Given the description of an element on the screen output the (x, y) to click on. 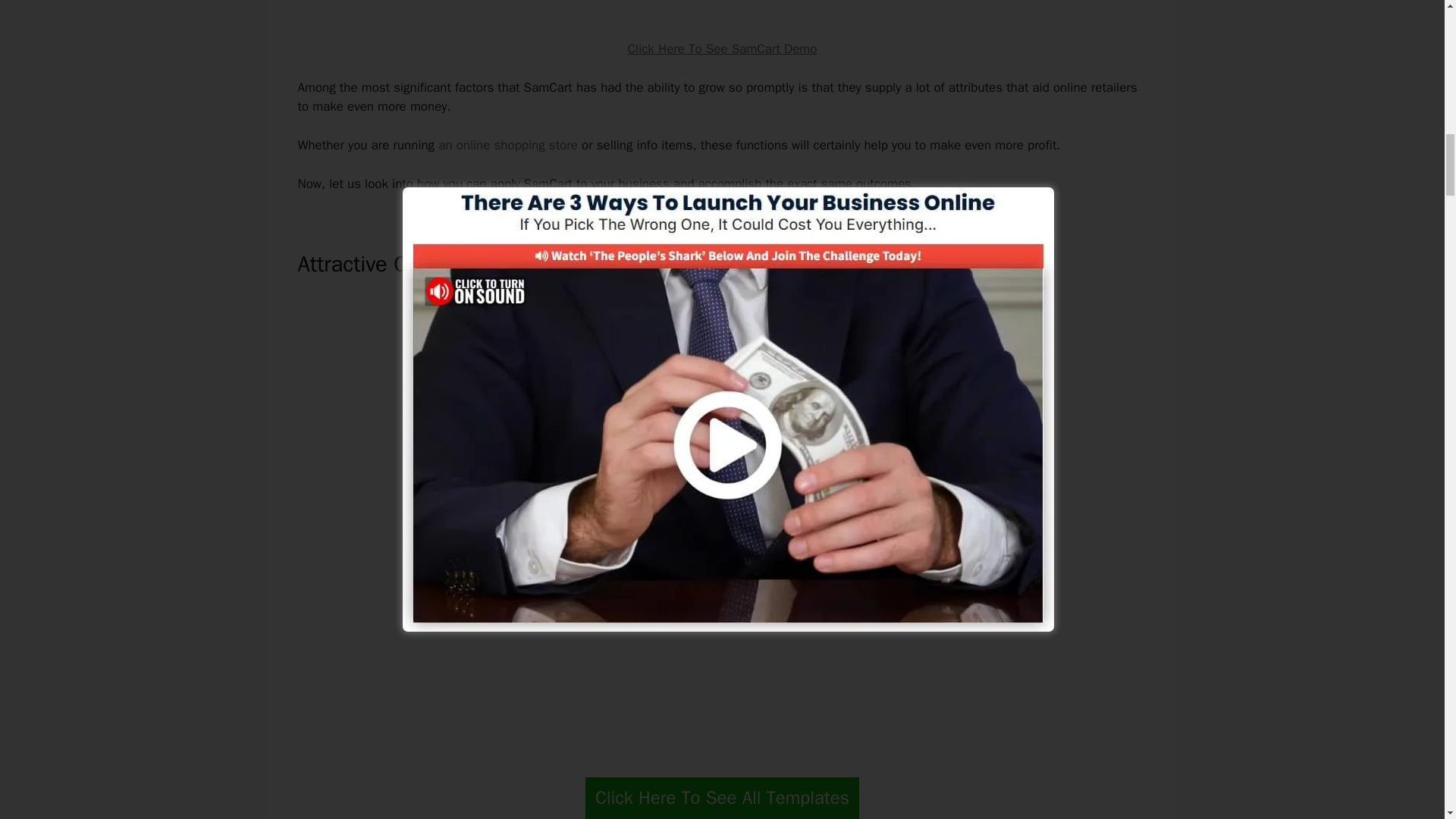
Click Here To See SamCart Demo (721, 48)
Click Here To See All Templates (722, 798)
an online shopping store (508, 145)
